Given the description of an element on the screen output the (x, y) to click on. 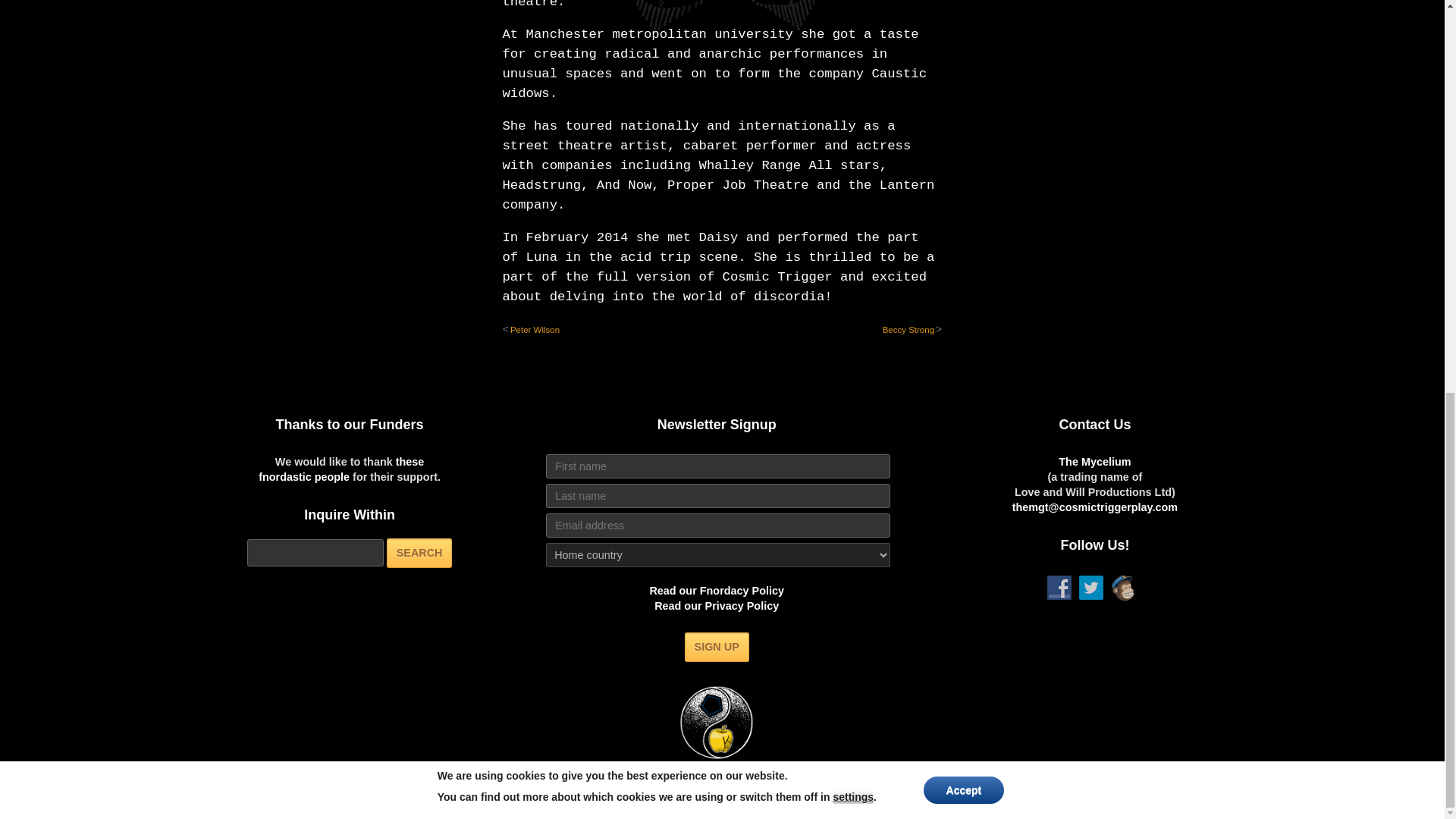
Beccy Strong (908, 329)
Read our Fnordacy Policy (716, 590)
The Mycelium (1094, 461)
Beccy Strong (908, 329)
Peter Wilson (535, 329)
Sign up (716, 646)
Follow Us on Mailing List (1122, 587)
Peter Wilson (535, 329)
Sign up (716, 646)
Search (419, 553)
Follow Us on Twitter (1090, 587)
Follow Us on Facebook (1058, 587)
Read our Privacy Policy (715, 605)
Search (419, 553)
